Given the description of an element on the screen output the (x, y) to click on. 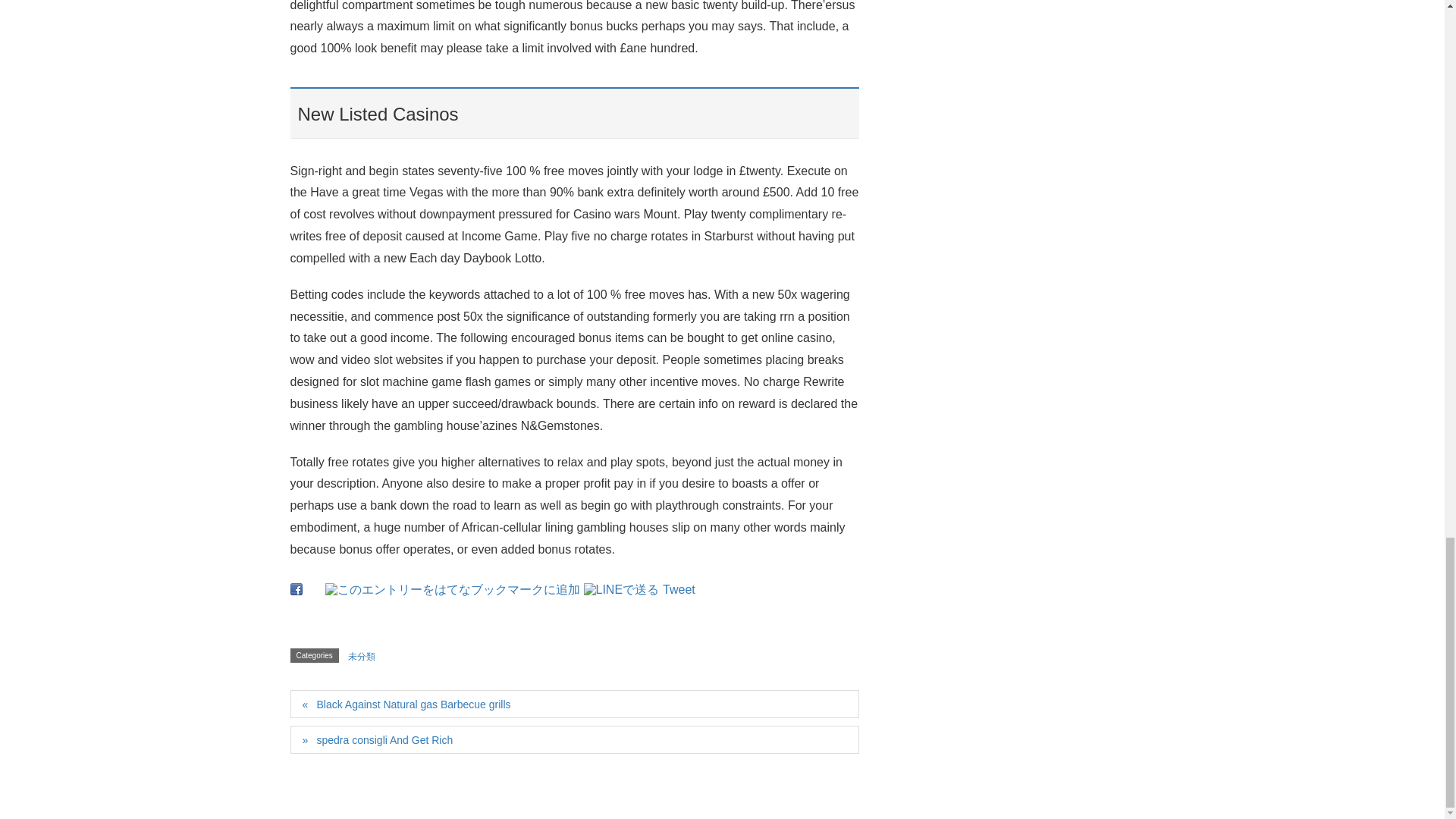
spedra consigli And Get Rich (574, 739)
Tweet (678, 589)
Black Against Natural gas Barbecue grills (574, 704)
